Given the description of an element on the screen output the (x, y) to click on. 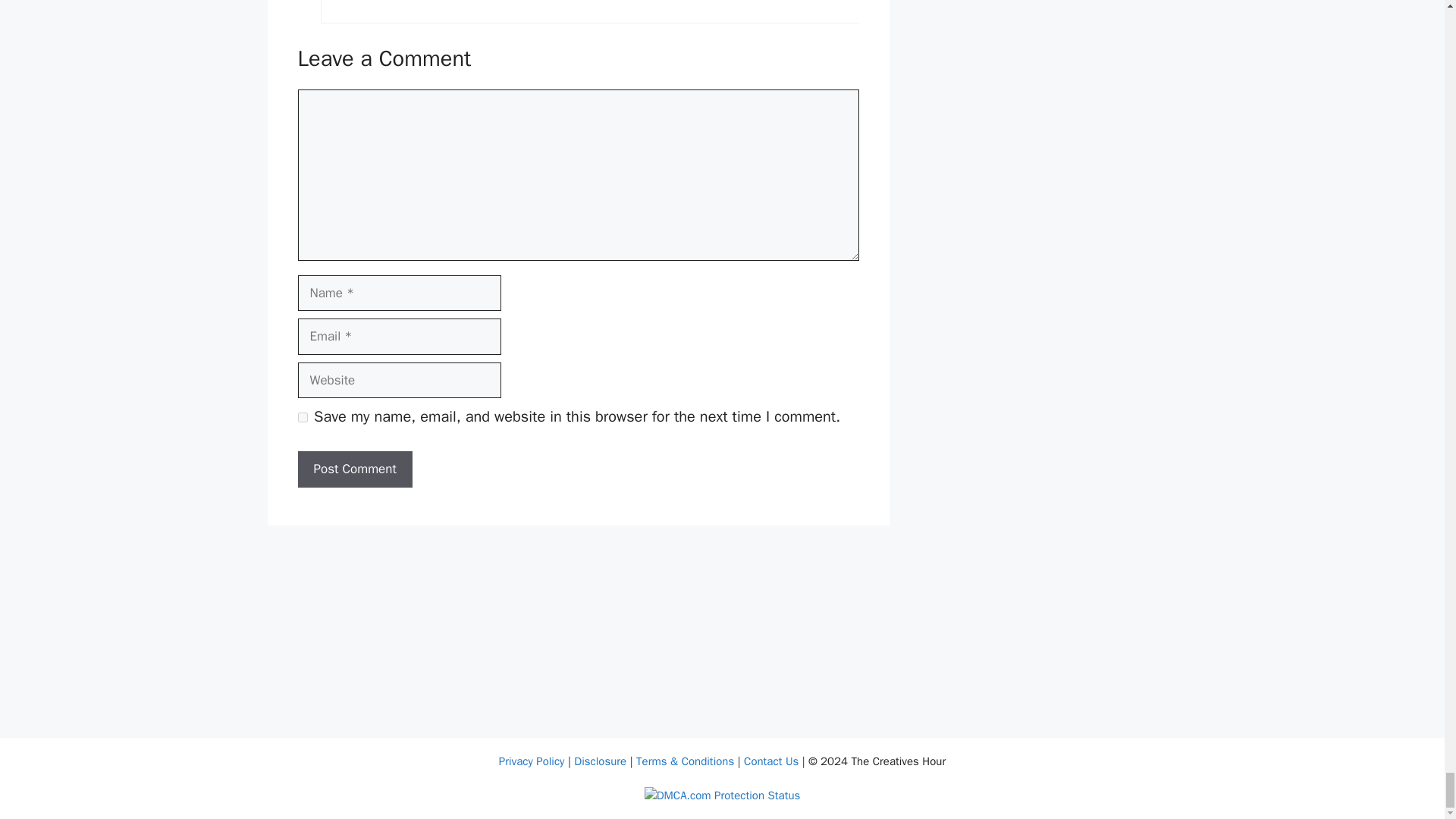
Post Comment (354, 469)
DMCA.com Protection Status (722, 795)
yes (302, 417)
